Given the description of an element on the screen output the (x, y) to click on. 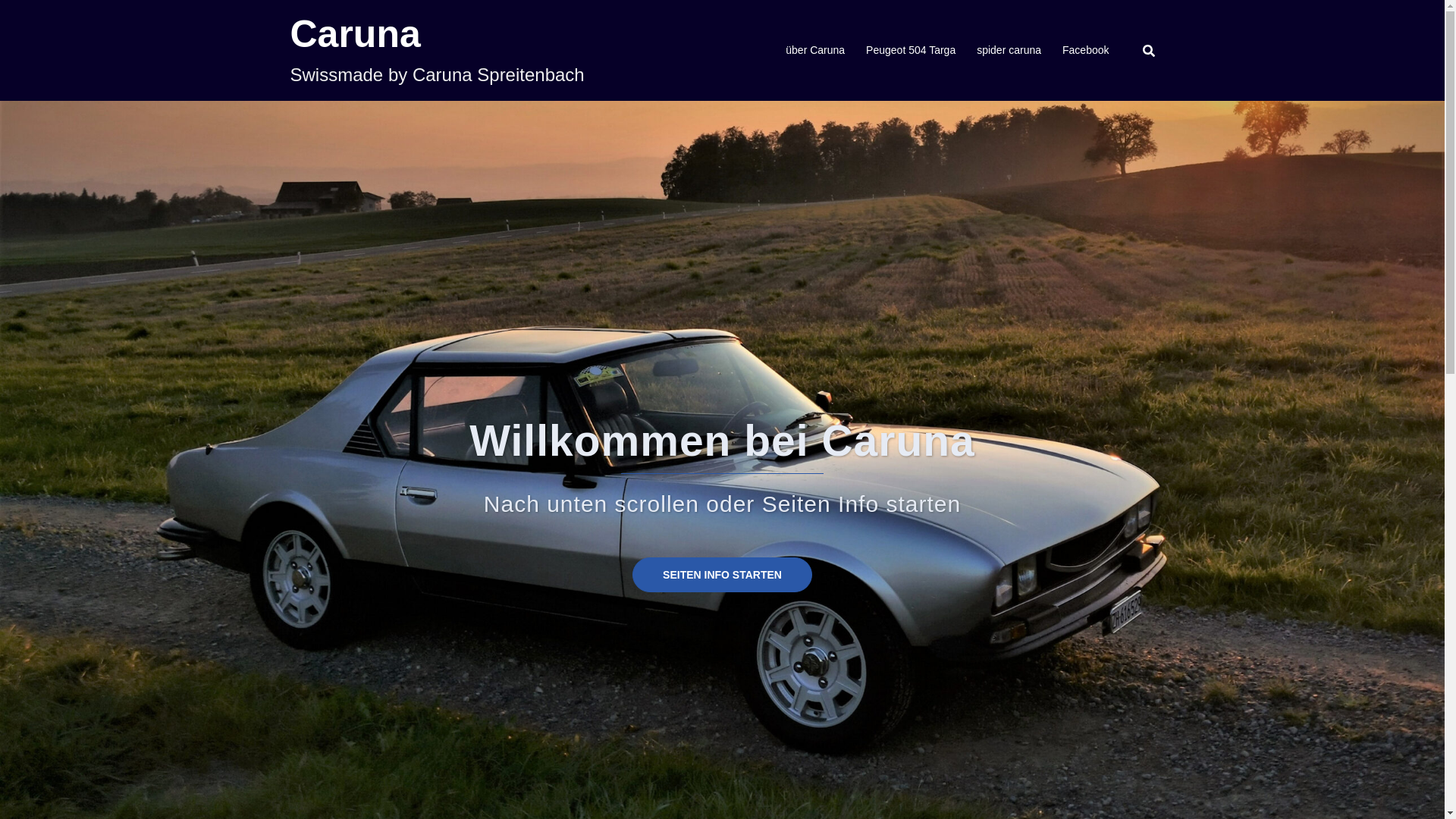
Caruna Element type: text (354, 33)
SEITEN INFO STARTEN Element type: text (722, 574)
Suche Element type: text (48, 17)
Facebook Element type: text (1085, 50)
spider caruna Element type: text (1008, 50)
Peugeot 504 Targa Element type: text (910, 50)
